Given the description of an element on the screen output the (x, y) to click on. 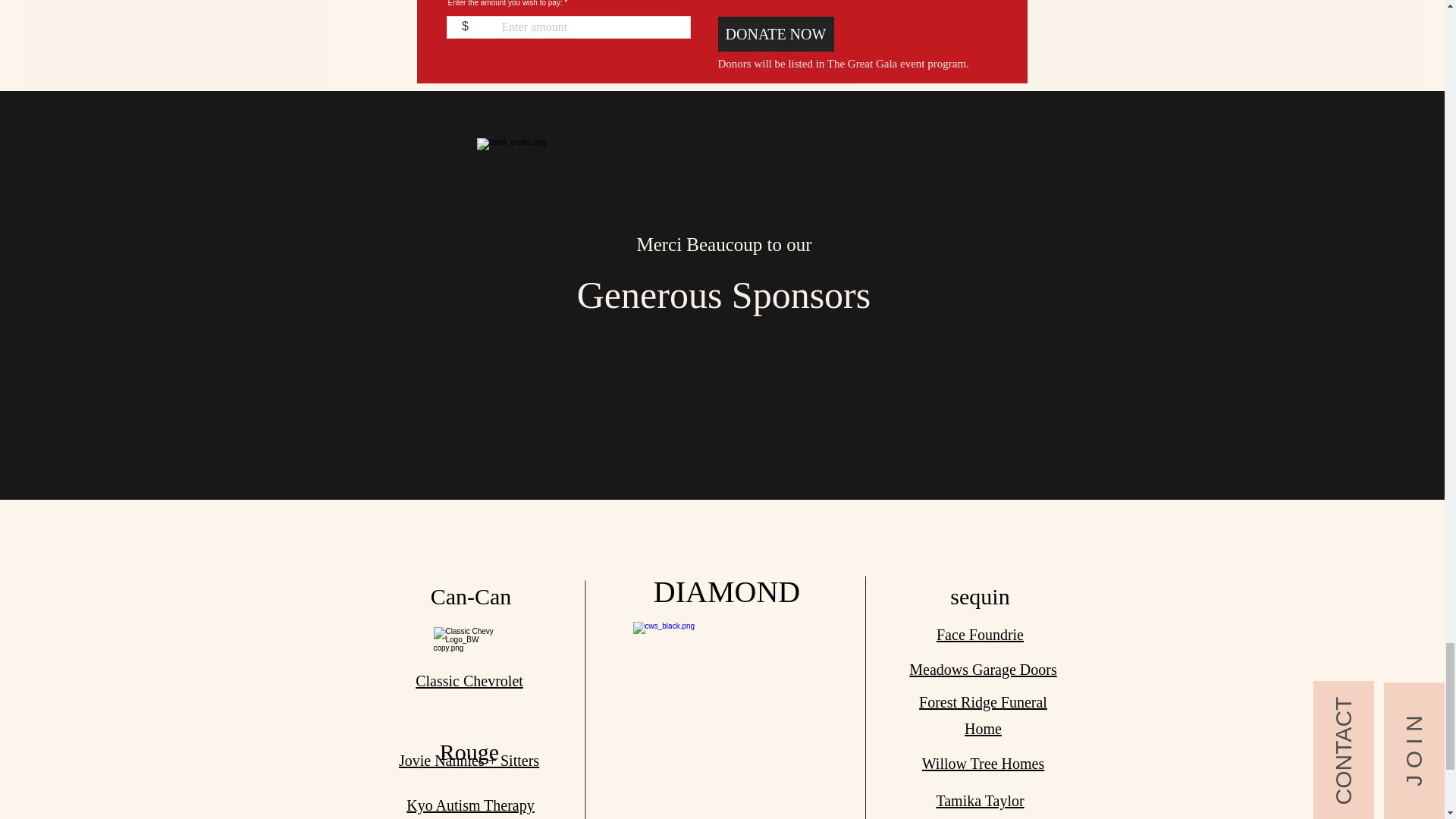
Classic Chevy Logo copy.png (726, 715)
